Given the description of an element on the screen output the (x, y) to click on. 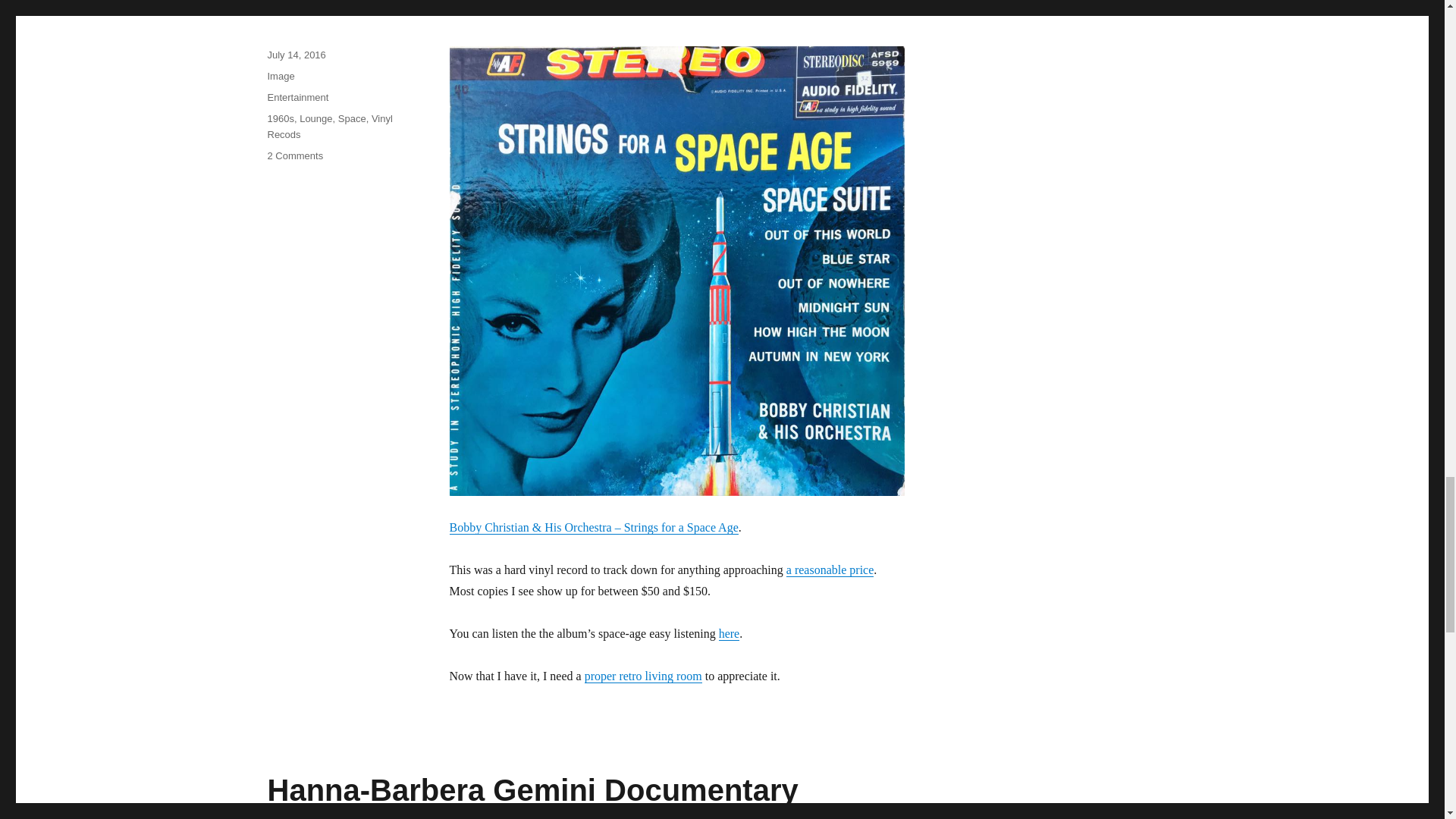
Strings for a Space Age (364, 6)
